Given the description of an element on the screen output the (x, y) to click on. 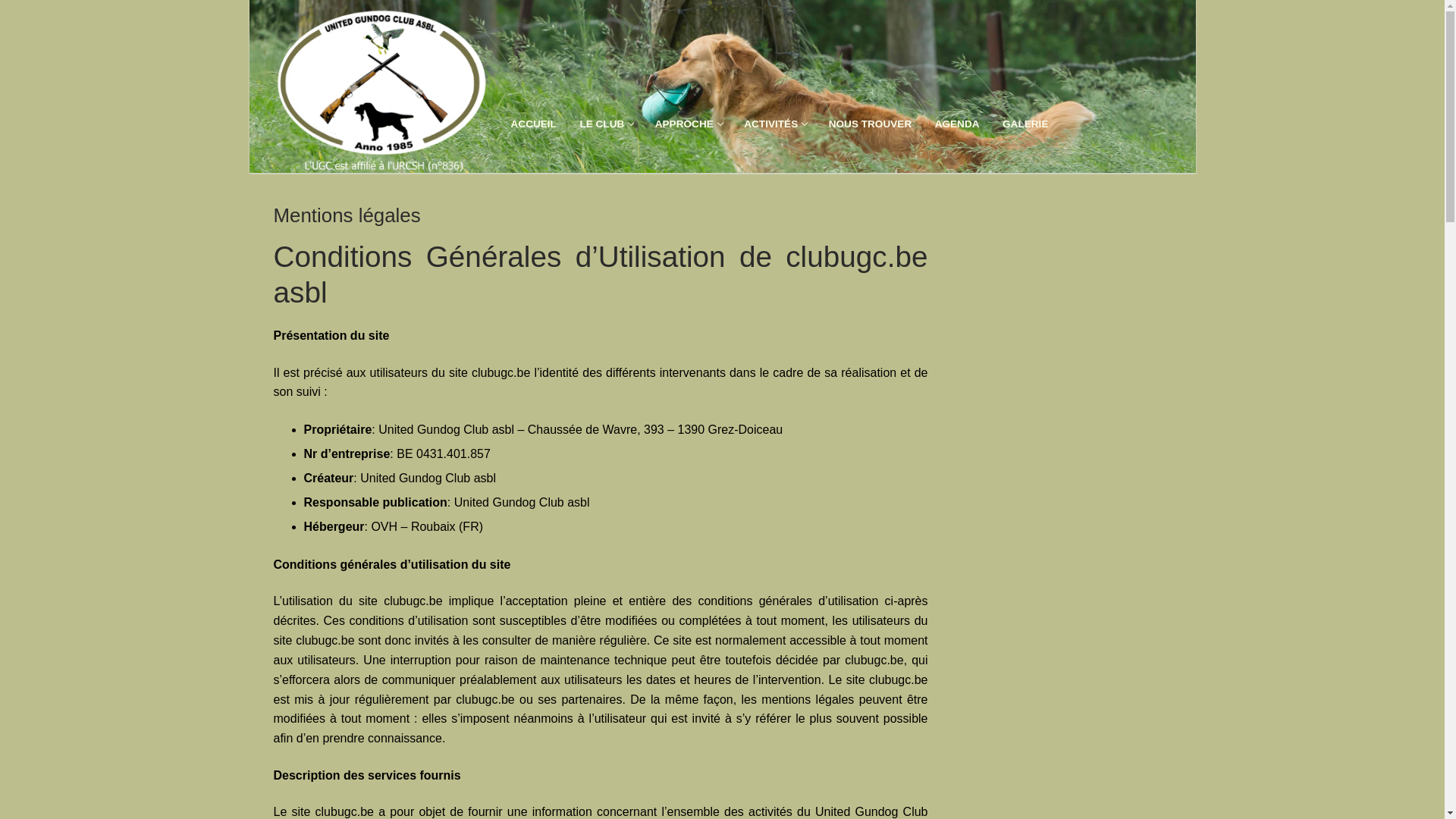
AGENDA Element type: text (957, 123)
NOUS TROUVER Element type: text (870, 123)
LE CLUB
  Element type: text (605, 123)
ACCUEIL Element type: text (532, 123)
GALERIE Element type: text (1024, 123)
APPROCHE
  Element type: text (688, 123)
